Given the description of an element on the screen output the (x, y) to click on. 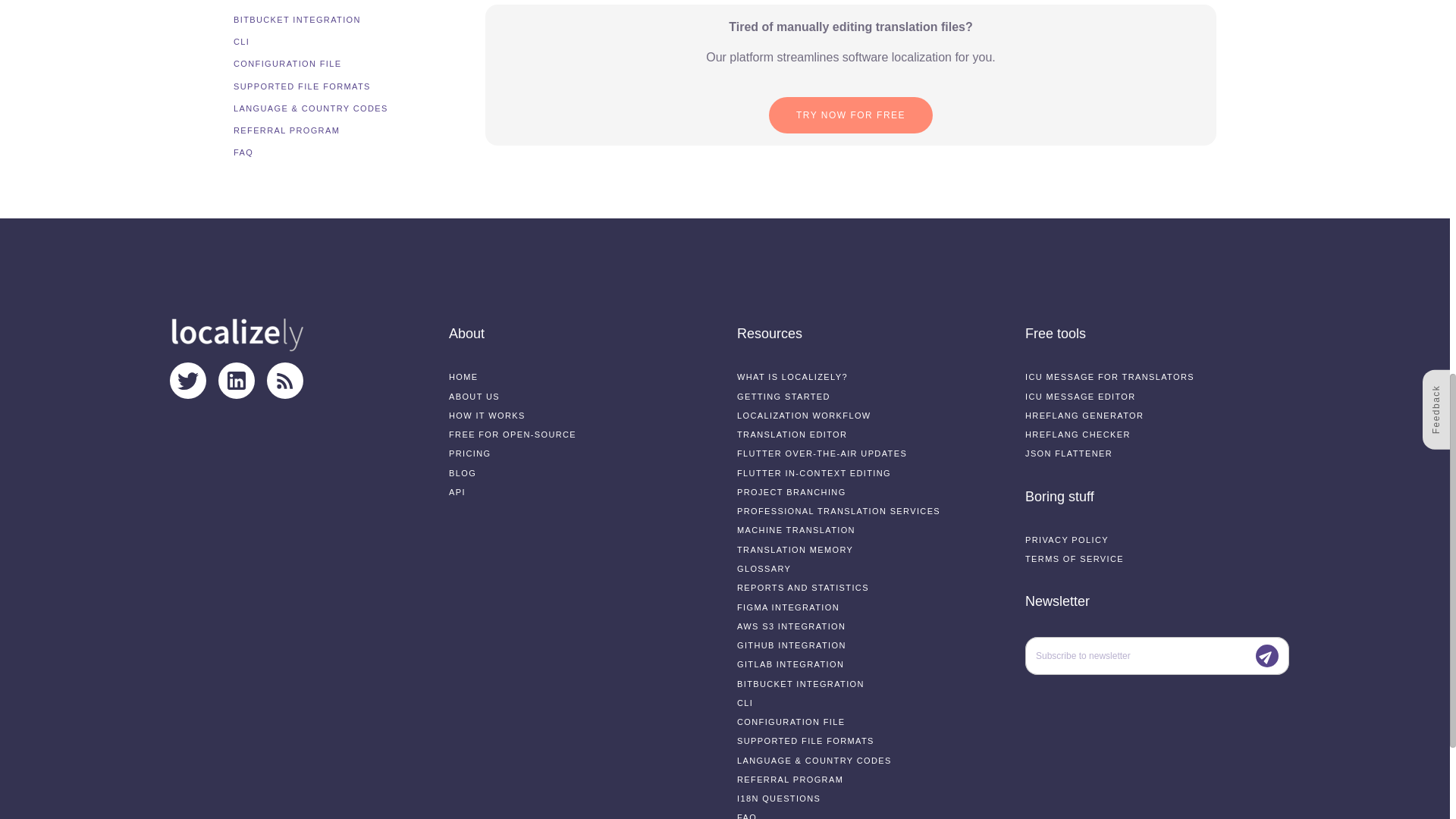
FAQ (242, 31)
REFERRAL PROGRAM (285, 9)
